Given the description of an element on the screen output the (x, y) to click on. 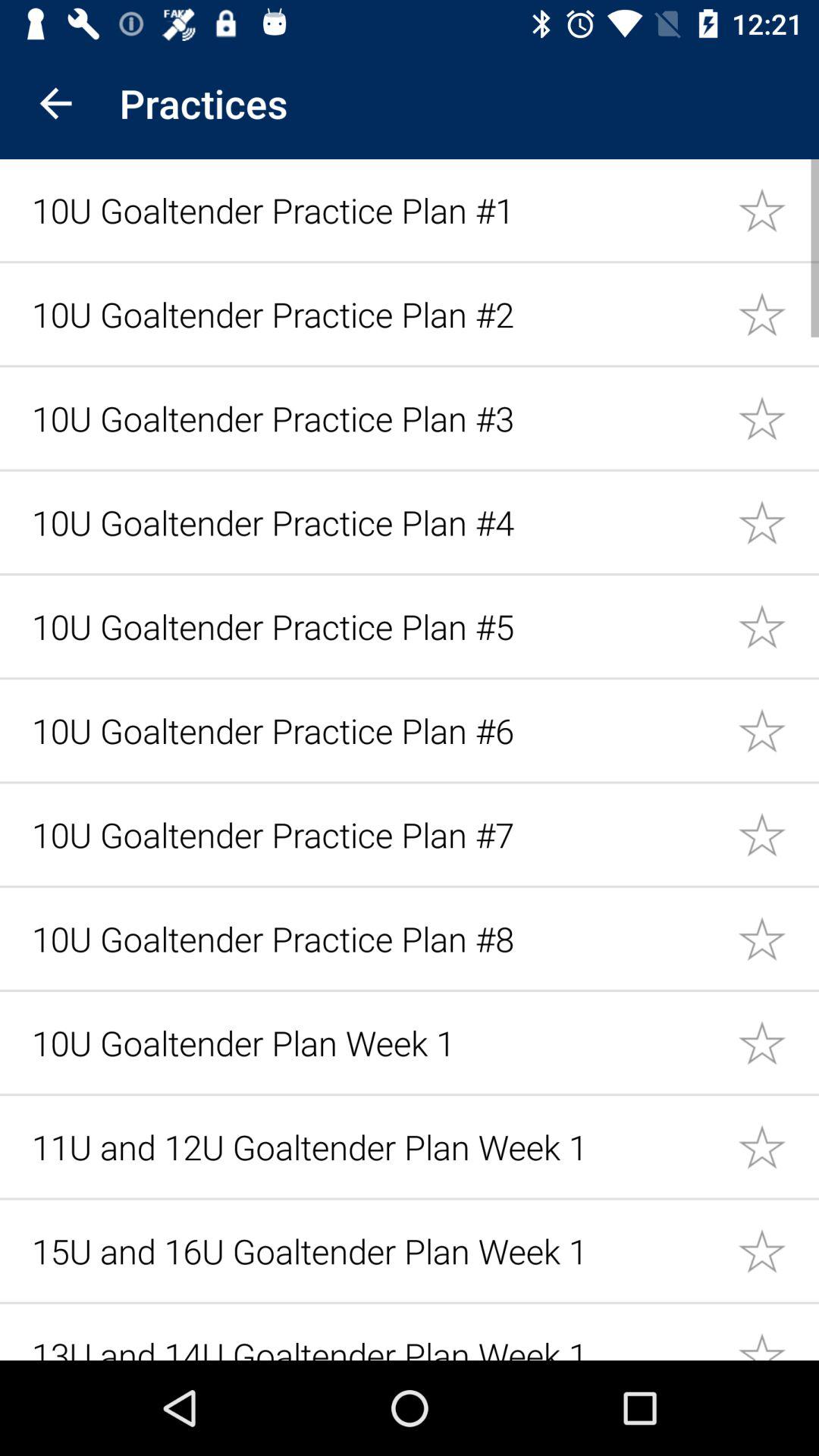
star (778, 209)
